Given the description of an element on the screen output the (x, y) to click on. 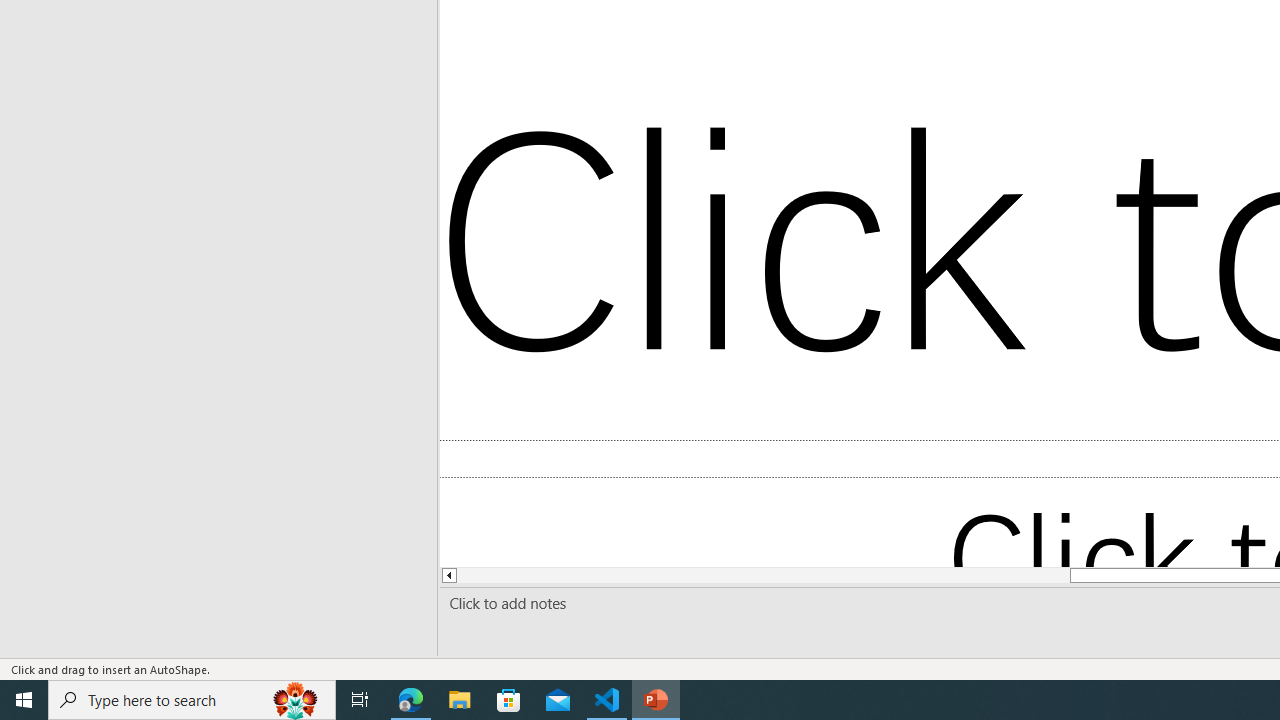
Tabs... (1028, 309)
After: (1150, 22)
Page Number Page 1 of 1 (55, 640)
RichEdit Control (1136, 23)
Set As Default (1209, 309)
